Given the description of an element on the screen output the (x, y) to click on. 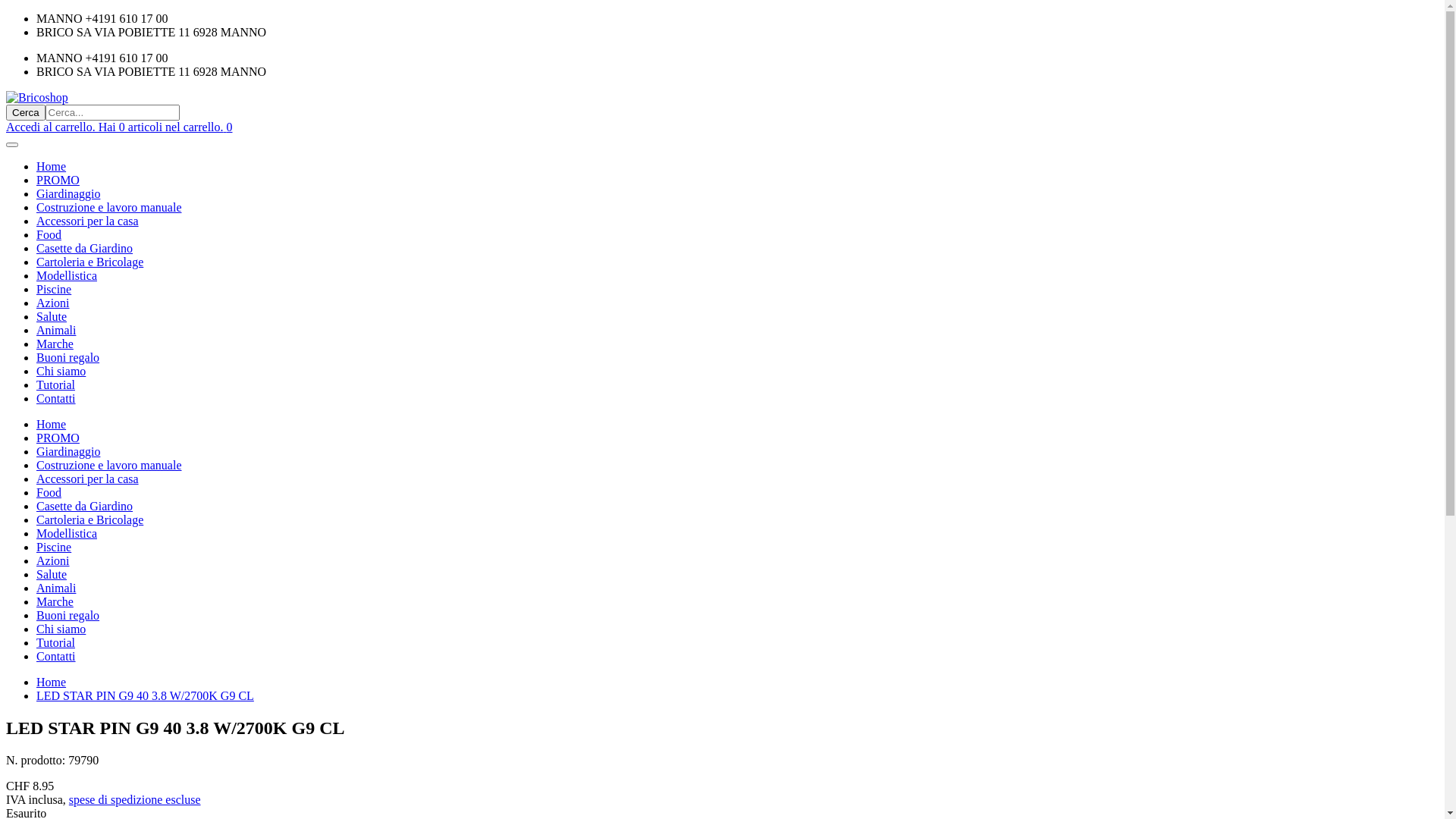
Home Element type: text (50, 166)
Chi siamo Element type: text (60, 370)
Piscine Element type: text (53, 546)
Buoni regalo Element type: text (67, 614)
Animali Element type: text (55, 587)
Salute Element type: text (51, 316)
Costruzione e lavoro manuale Element type: text (109, 206)
Cartoleria e Bricolage Element type: text (89, 519)
Accessori per la casa Element type: text (87, 220)
Buoni regalo Element type: text (67, 357)
Bricoshop Element type: hover (37, 97)
Modellistica Element type: text (66, 275)
Tutorial Element type: text (55, 642)
Contatti Element type: text (55, 398)
LED STAR PIN G9 40 3.8 W/2700K G9 CL Element type: text (145, 695)
Giardinaggio Element type: text (68, 193)
Casette da Giardino Element type: text (84, 247)
Giardinaggio Element type: text (68, 451)
Animali Element type: text (55, 329)
Casette da Giardino Element type: text (84, 505)
Accedi al carrello. Hai 0 articoli nel carrello. 0 Element type: text (119, 126)
Salute Element type: text (51, 573)
spese di spedizione escluse Element type: text (134, 799)
Cerca Element type: text (25, 112)
Costruzione e lavoro manuale Element type: text (109, 464)
Tutorial Element type: text (55, 384)
Azioni Element type: text (52, 302)
Azioni Element type: text (52, 560)
Food Element type: text (48, 492)
Piscine Element type: text (53, 288)
Marche Element type: text (54, 343)
Accessori per la casa Element type: text (87, 478)
Chi siamo Element type: text (60, 628)
PROMO Element type: text (57, 437)
Cartoleria e Bricolage Element type: text (89, 261)
Food Element type: text (48, 234)
Modellistica Element type: text (66, 533)
PROMO Element type: text (57, 179)
Home Element type: text (50, 681)
Home Element type: text (50, 423)
Marche Element type: text (54, 601)
Contatti Element type: text (55, 655)
